Given the description of an element on the screen output the (x, y) to click on. 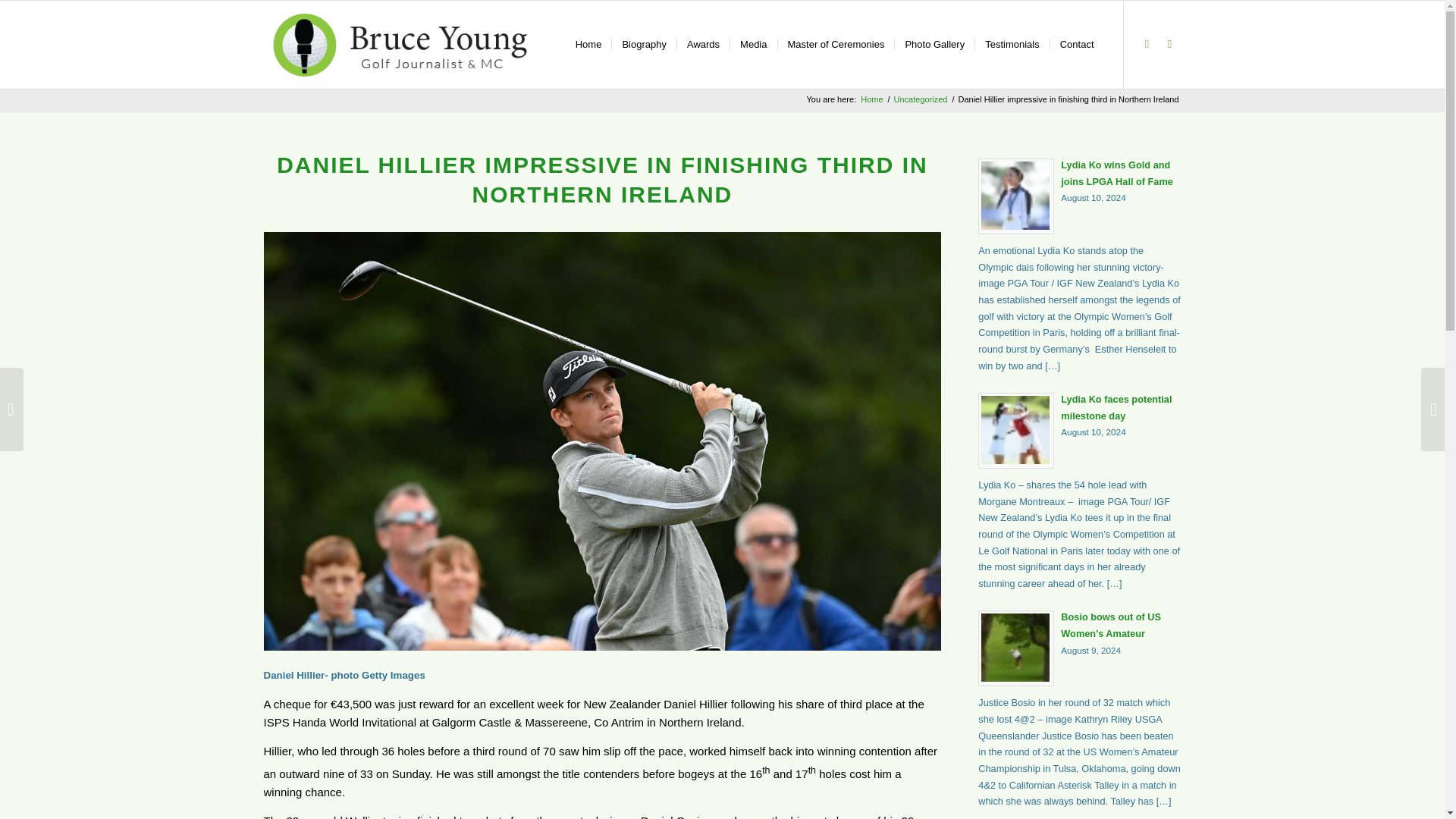
Home (872, 99)
Youtube (1146, 43)
Photo Gallery (933, 44)
Uncategorized (1079, 428)
LinkedIn (920, 99)
Master of Ceremonies (1169, 43)
